Given the description of an element on the screen output the (x, y) to click on. 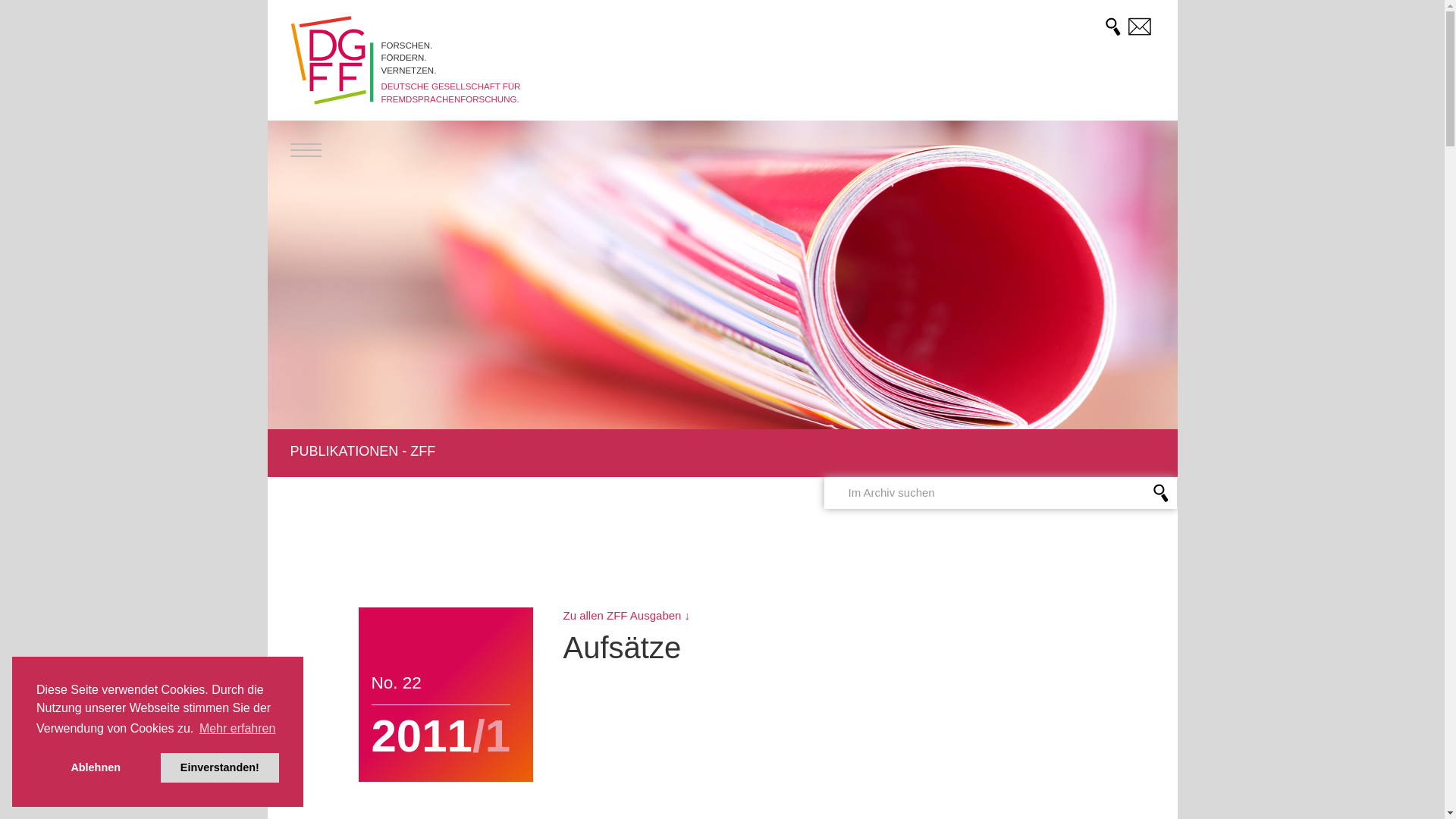
Einverstanden! (219, 767)
Logo DGFF (330, 60)
Mehr erfahren (237, 728)
E-Mail an DGFF (1139, 26)
Burger Menu (304, 150)
Ablehnen (95, 767)
Los (18, 13)
